Given the description of an element on the screen output the (x, y) to click on. 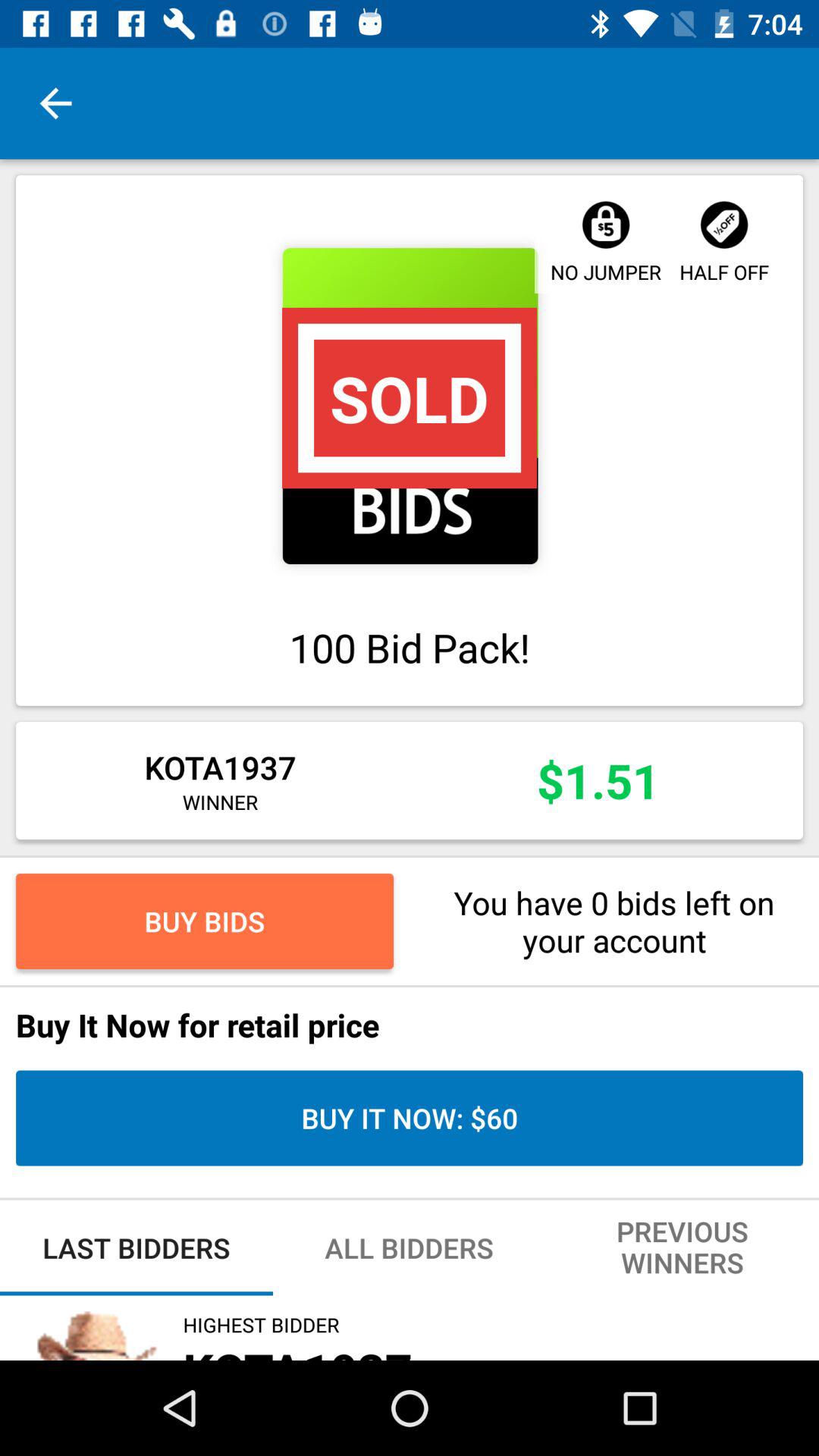
turn off buy bids item (204, 921)
